Given the description of an element on the screen output the (x, y) to click on. 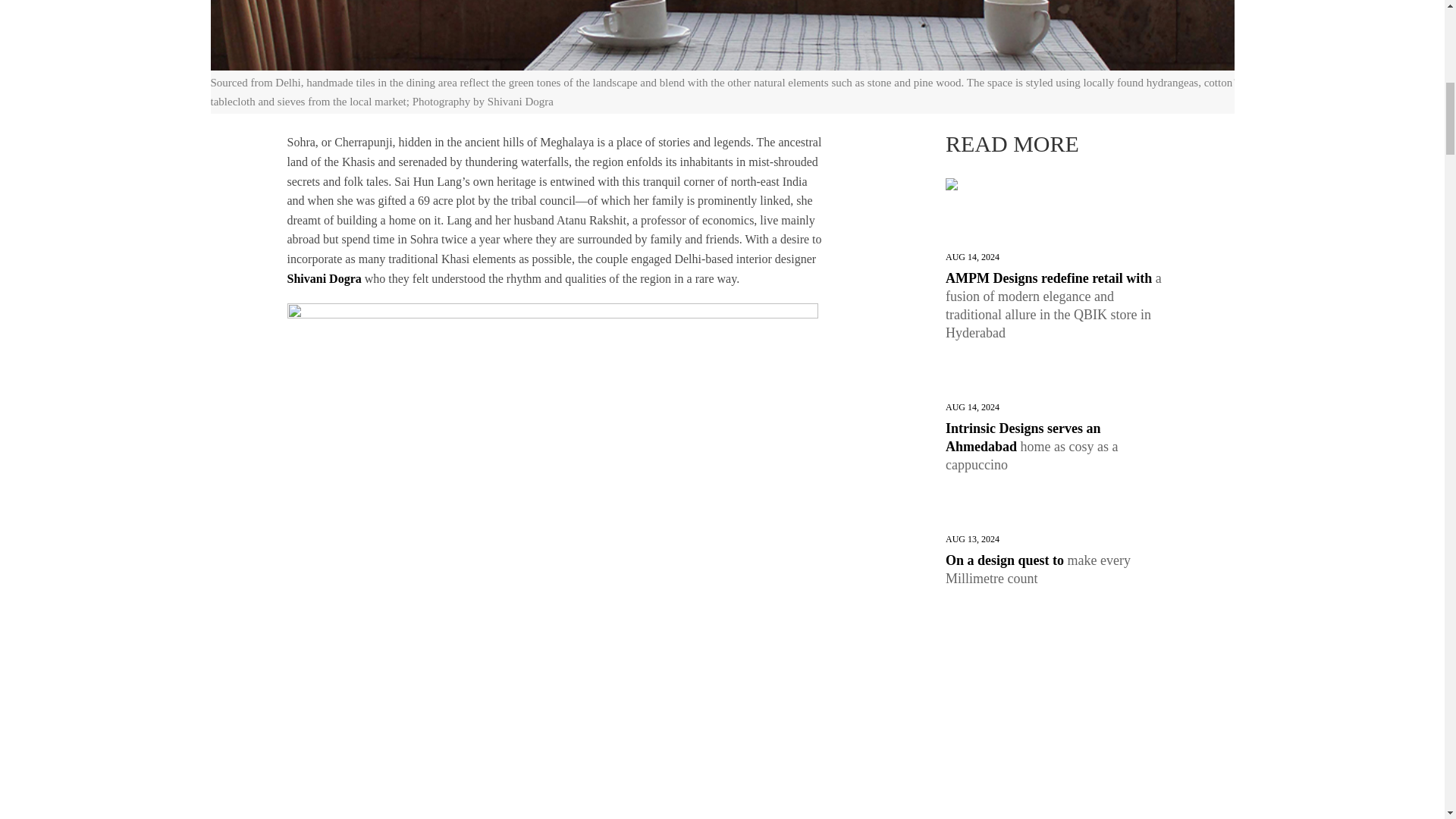
Shivani Dogra (323, 278)
On a design quest to make every Millimetre count (1056, 570)
